Given the description of an element on the screen output the (x, y) to click on. 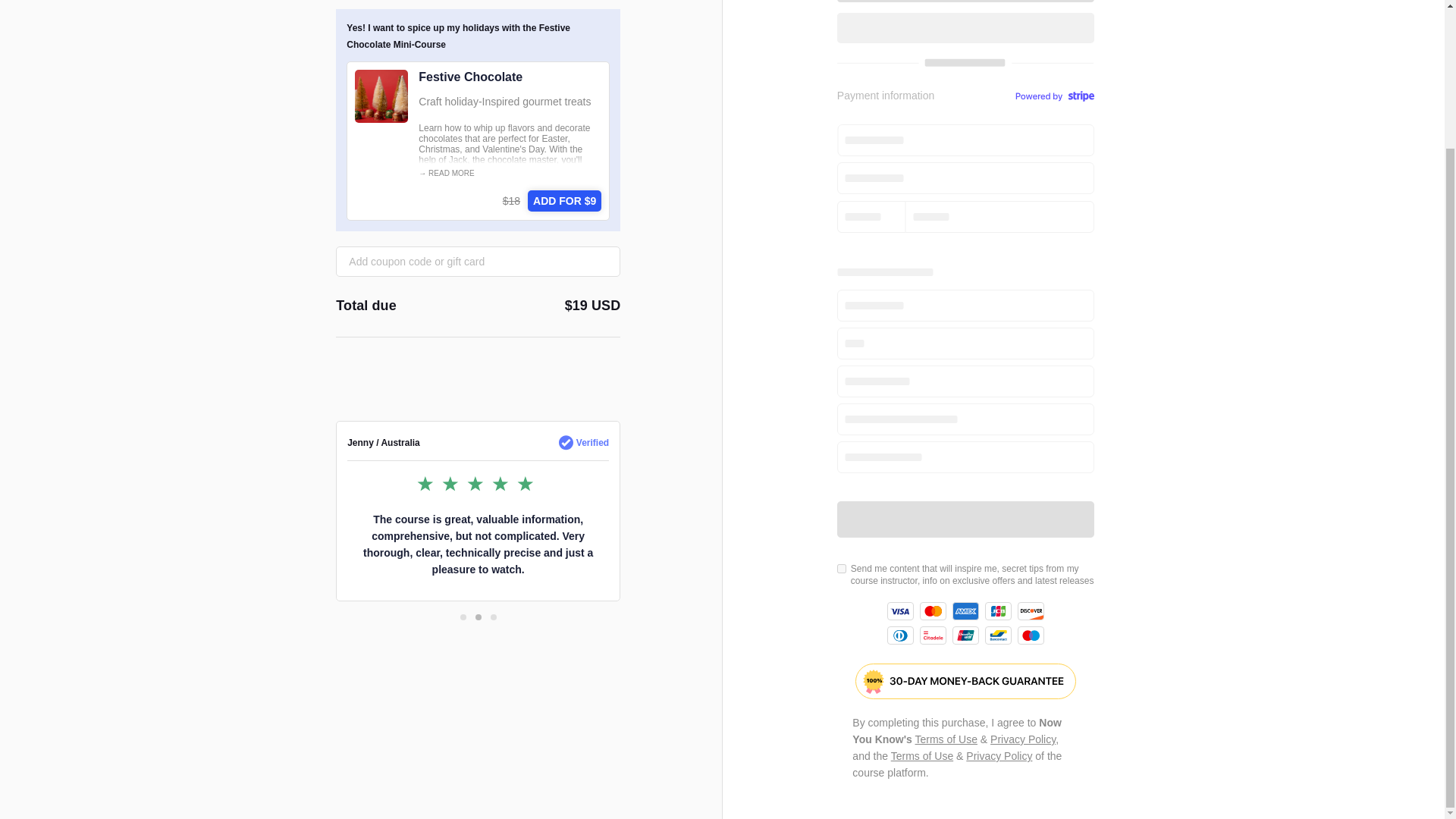
Terms of Use (945, 739)
Terms of Use (922, 756)
on (841, 568)
Privacy Policy (1022, 739)
Privacy Policy (999, 756)
Customer reviews powered by Trustpilot (478, 390)
